Given the description of an element on the screen output the (x, y) to click on. 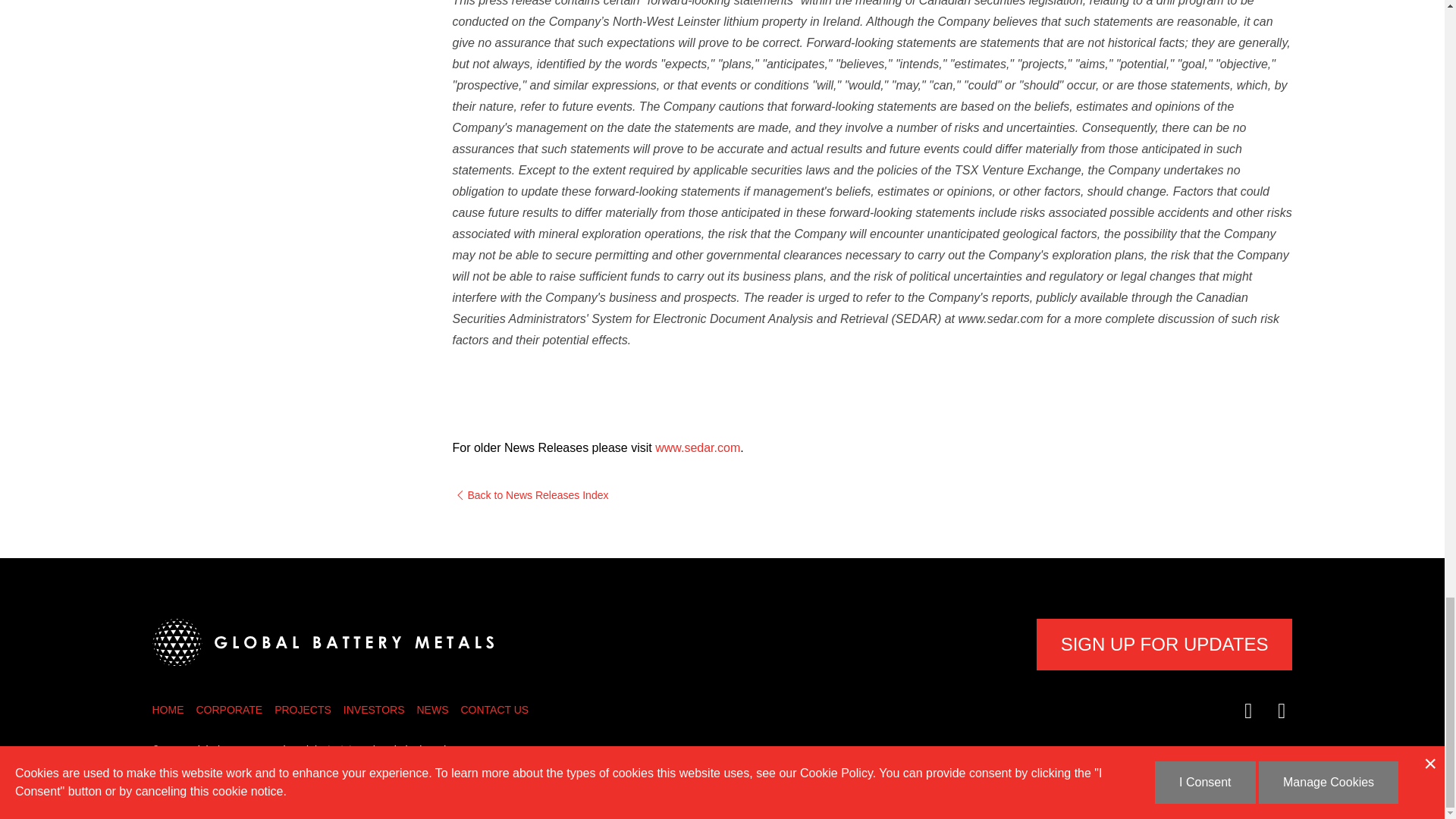
NEWS (432, 709)
CONTACT US (494, 709)
www.sedar.com (697, 447)
PROJECTS (303, 709)
HOME (167, 709)
INVESTORS (373, 709)
CORPORATE (228, 709)
Back to News Releases Index (871, 495)
